Given the description of an element on the screen output the (x, y) to click on. 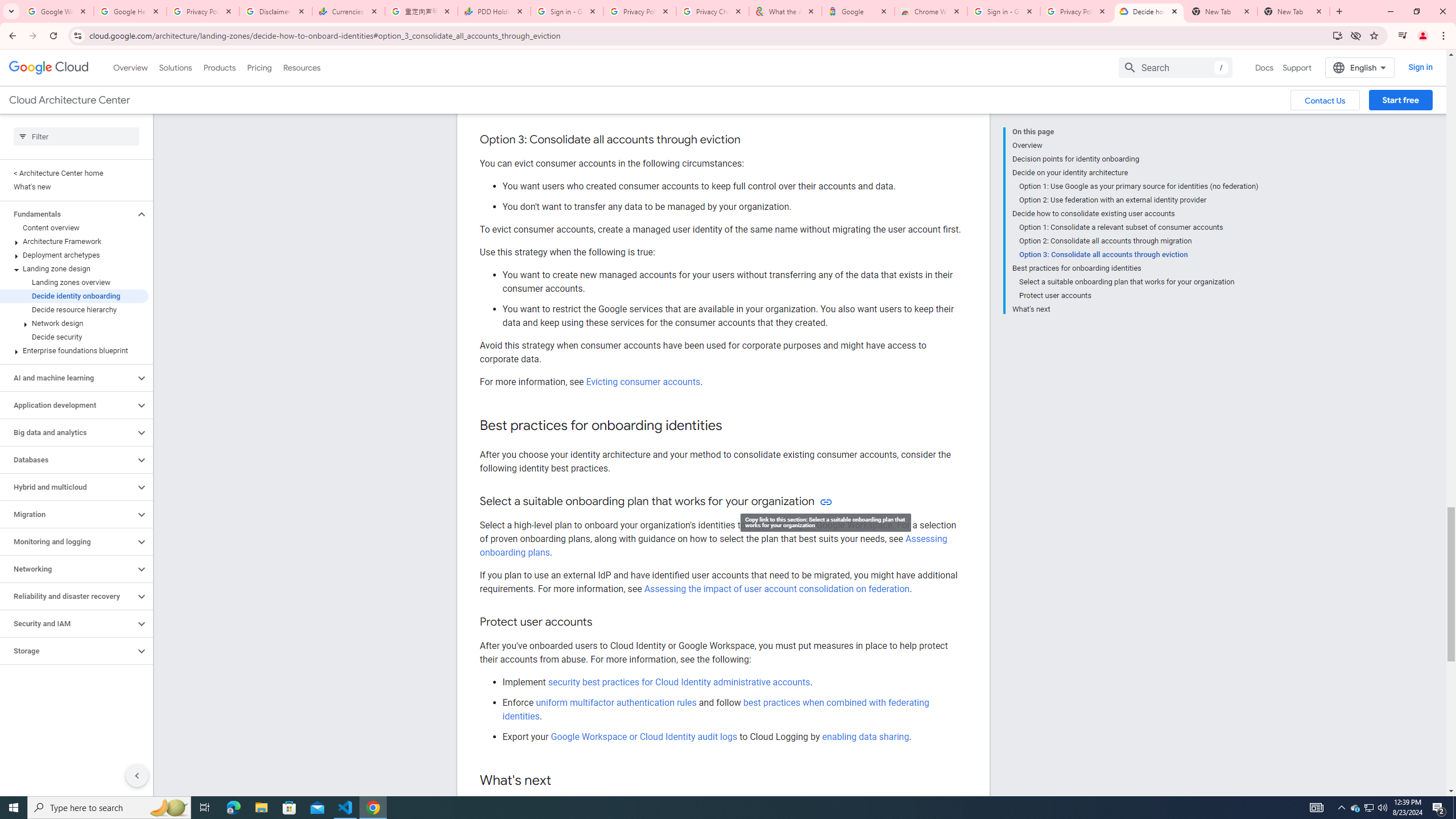
Storage (67, 650)
Hybrid and multicloud (67, 486)
What's next (1134, 307)
Landing zone design (74, 269)
Enterprise foundations blueprint (74, 350)
Chrome Web Store - Color themes by Chrome (930, 11)
